Given the description of an element on the screen output the (x, y) to click on. 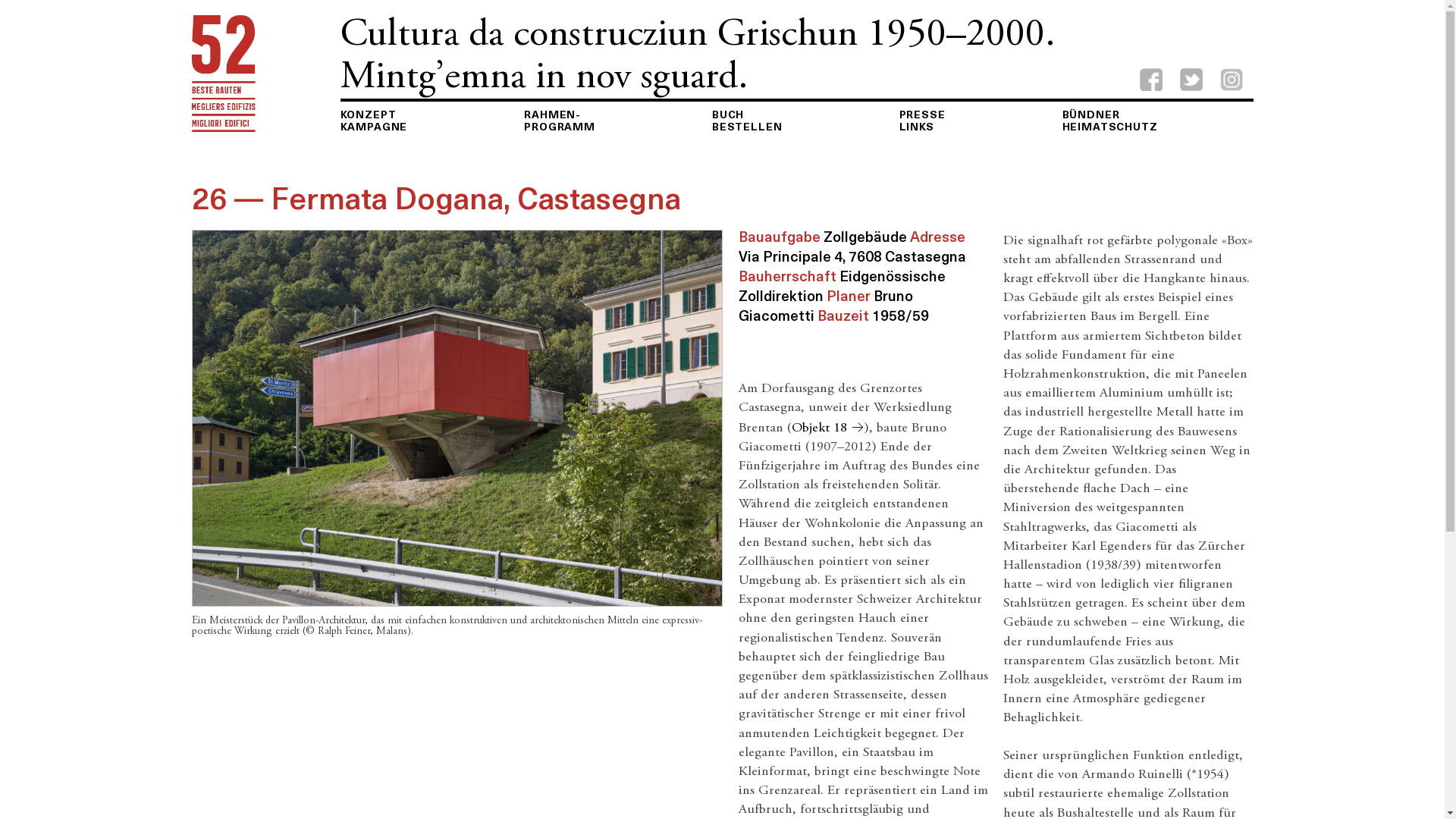
RAHMEN-
PROGRAMM Element type: text (559, 120)
Objekt 18 Element type: text (827, 428)
PRESSE
LINKS Element type: text (922, 120)
BUCH
BESTELLEN Element type: text (747, 120)
KONZEPT
KAMPAGNE Element type: text (373, 120)
